Given the description of an element on the screen output the (x, y) to click on. 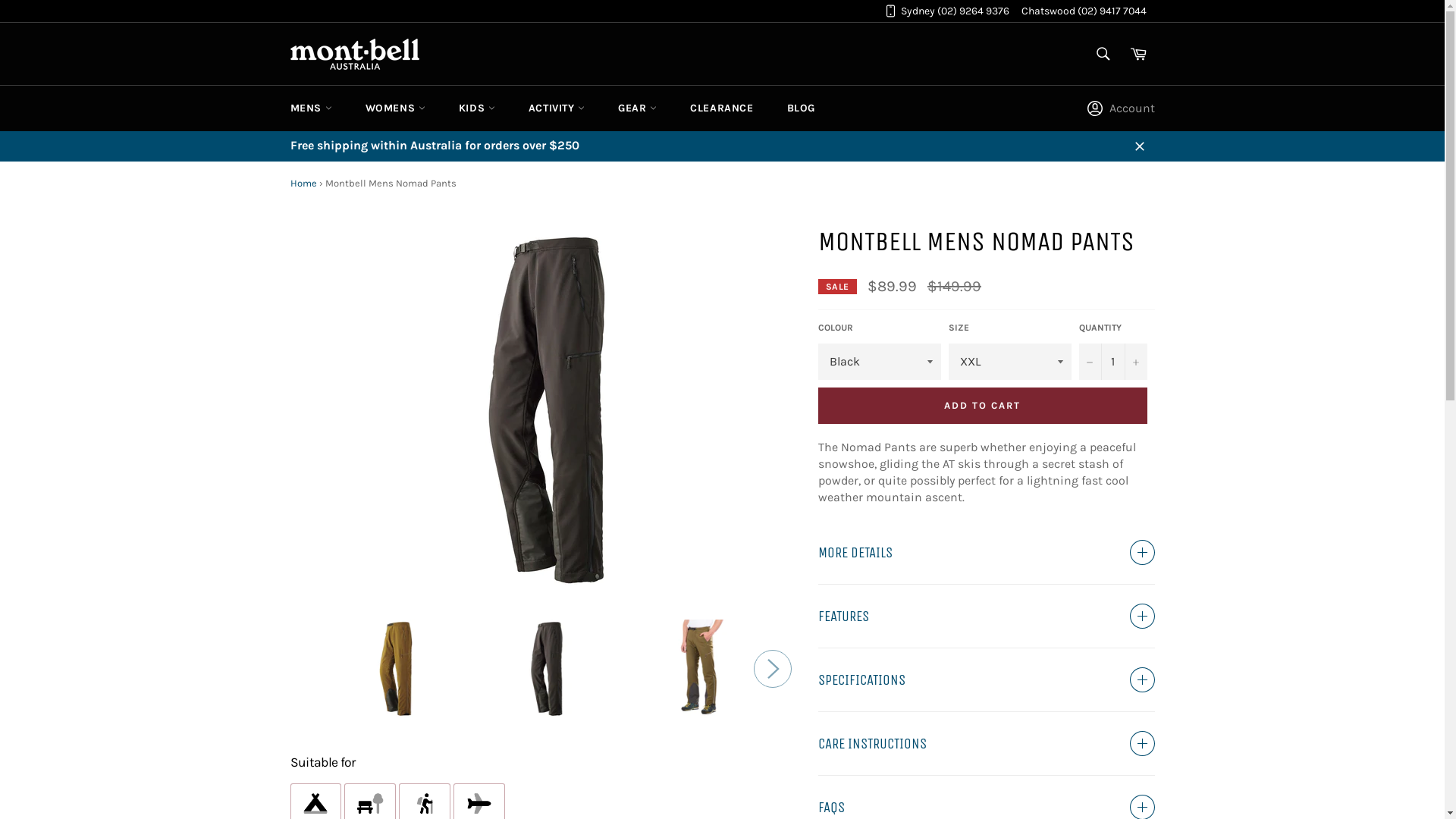
+ Element type: text (1134, 361)
Search Element type: text (1103, 53)
WOMENS Element type: text (395, 107)
CARE INSTRUCTIONS Element type: text (985, 743)
KIDS Element type: text (476, 107)
Free shipping within Australia for orders over $250 Element type: text (721, 145)
MORE DETAILS Element type: text (985, 551)
FEATURES Element type: text (985, 615)
Chatswood (02) 9417 7044  Element type: text (1084, 10)
SPECIFICATIONS Element type: text (985, 679)
Sydney (02) 9264 9376 Element type: text (954, 10)
ADD TO CART Element type: text (981, 405)
GEAR Element type: text (636, 107)
Home Element type: text (302, 182)
ACTIVITY Element type: text (556, 107)
MENS Element type: text (310, 107)
CLEARANCE Element type: text (721, 107)
Account Element type: text (1123, 108)
BLOG Element type: text (800, 107)
Cart Element type: text (1138, 53)
Close Element type: text (1138, 145)
